Given the description of an element on the screen output the (x, y) to click on. 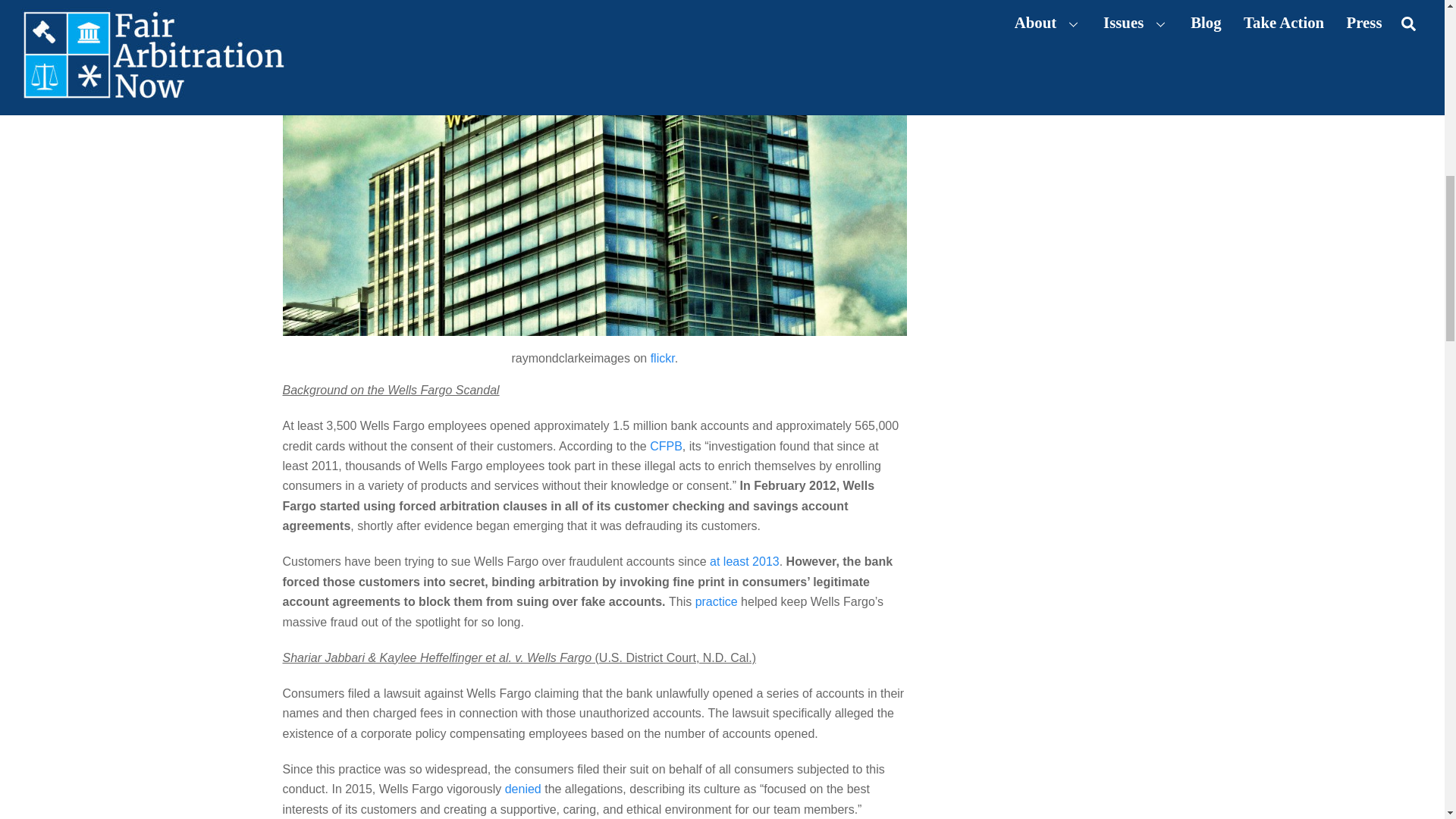
practice (716, 601)
denied (523, 788)
at least 2013 (744, 561)
flickr (662, 358)
CFPB (665, 445)
